Given the description of an element on the screen output the (x, y) to click on. 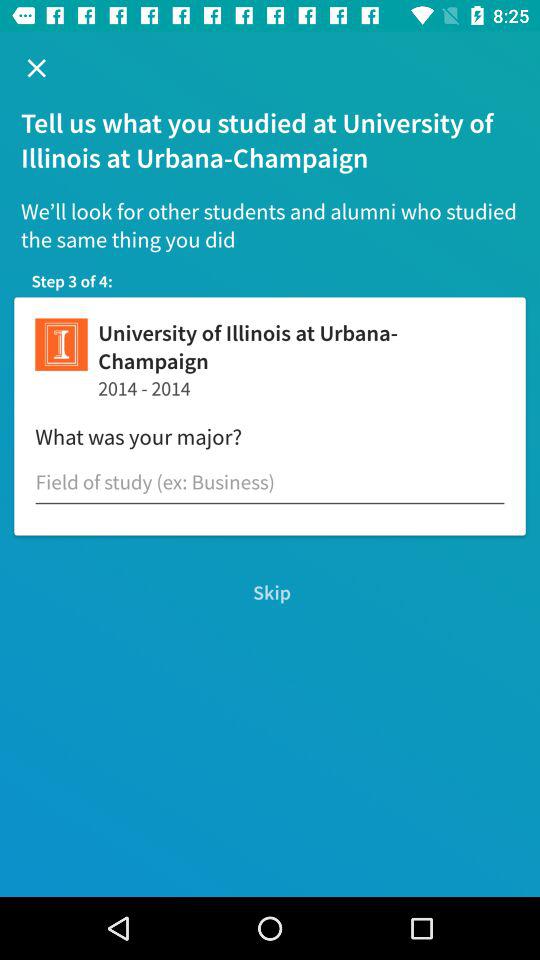
click the skip button (270, 592)
chick on the text field which is above the skip (269, 483)
click on the icon which is in orange color (61, 343)
